Given the description of an element on the screen output the (x, y) to click on. 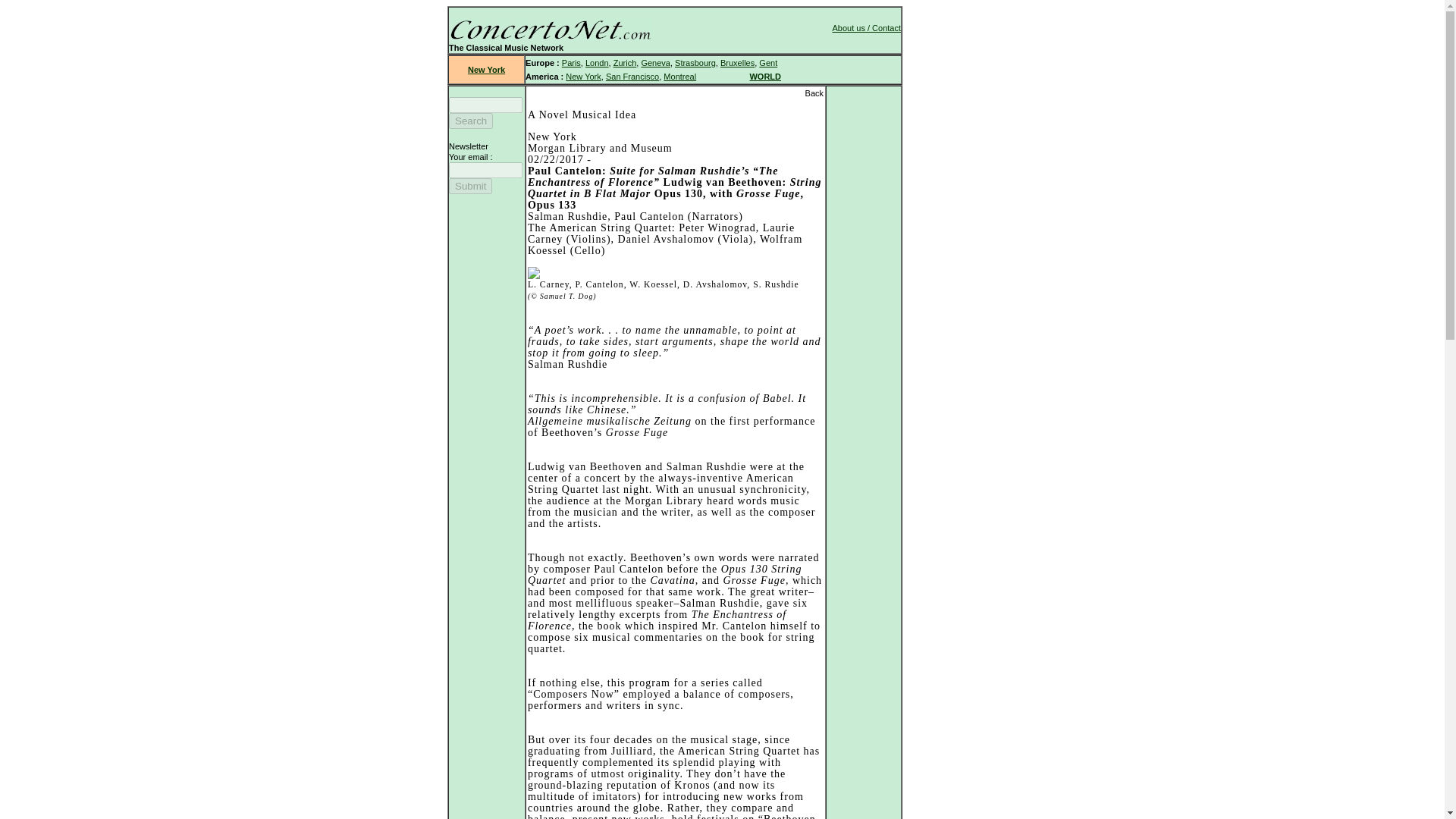
Strasbourg (695, 62)
Bruxelles (737, 62)
New York (582, 76)
Back (814, 92)
Search (470, 120)
Geneva (654, 62)
WORLD (764, 76)
San Francisco (632, 76)
Search (470, 120)
Paris (571, 62)
Londn (596, 62)
Submit (470, 186)
Submit (470, 186)
Gent (767, 62)
Montreal (679, 76)
